Given the description of an element on the screen output the (x, y) to click on. 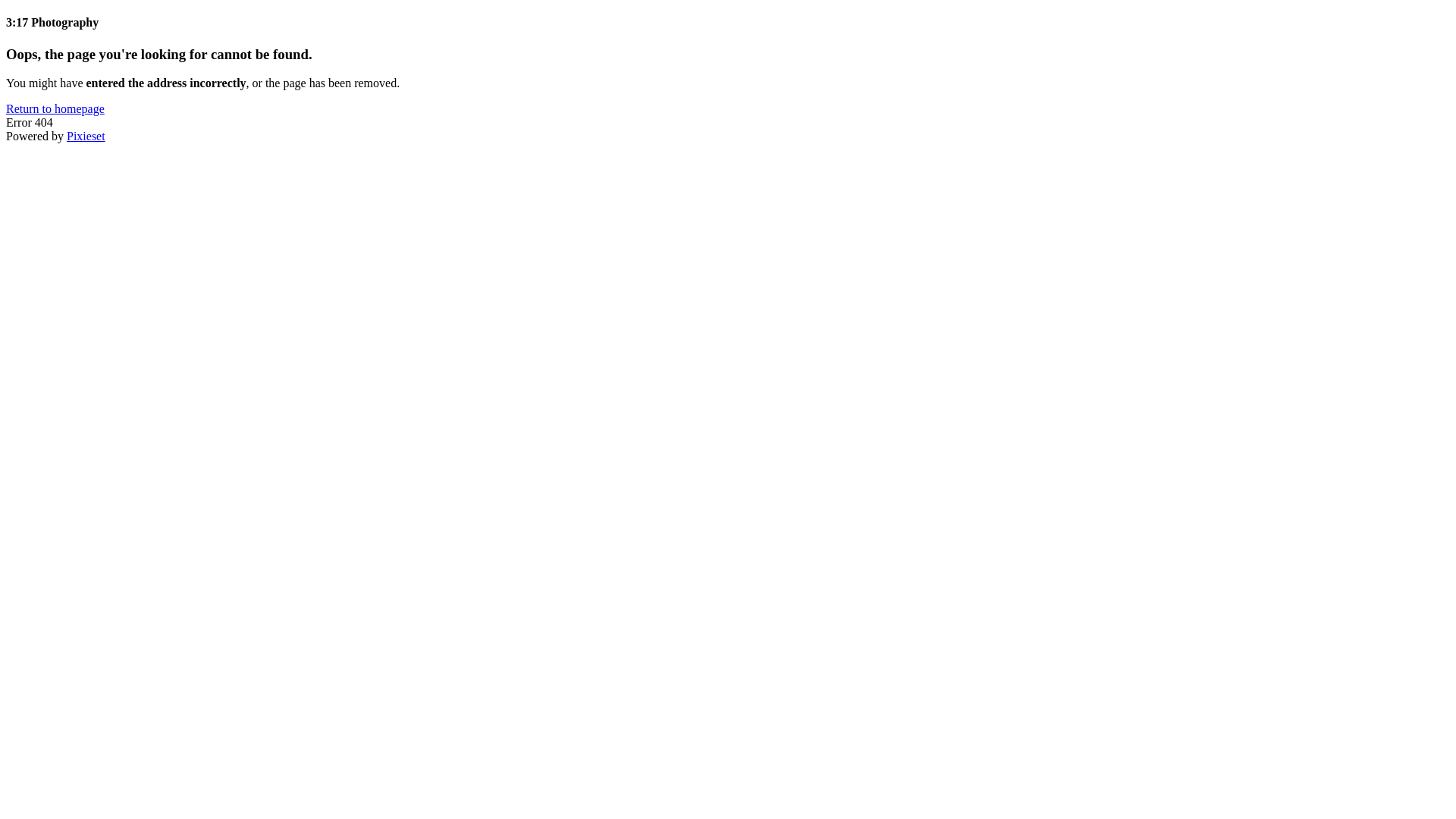
Return to homepage Element type: text (55, 108)
Pixieset Element type: text (85, 135)
